Given the description of an element on the screen output the (x, y) to click on. 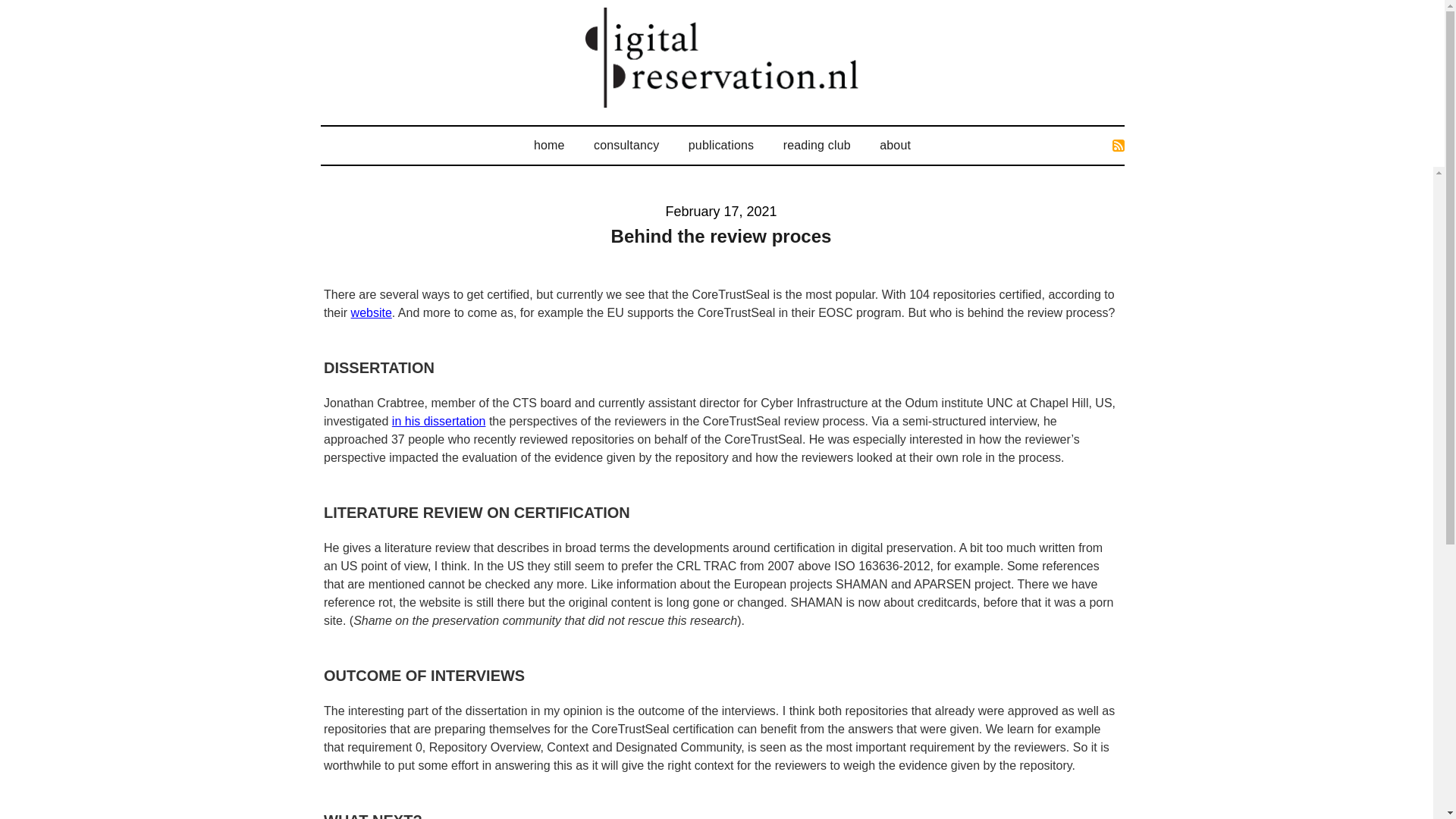
Use RSS (1118, 145)
in his dissertation (438, 420)
about (894, 145)
reading club (816, 145)
website (370, 312)
publications (721, 145)
home (549, 145)
Digital Preservation Seeds (722, 57)
consultancy (625, 145)
